Given the description of an element on the screen output the (x, y) to click on. 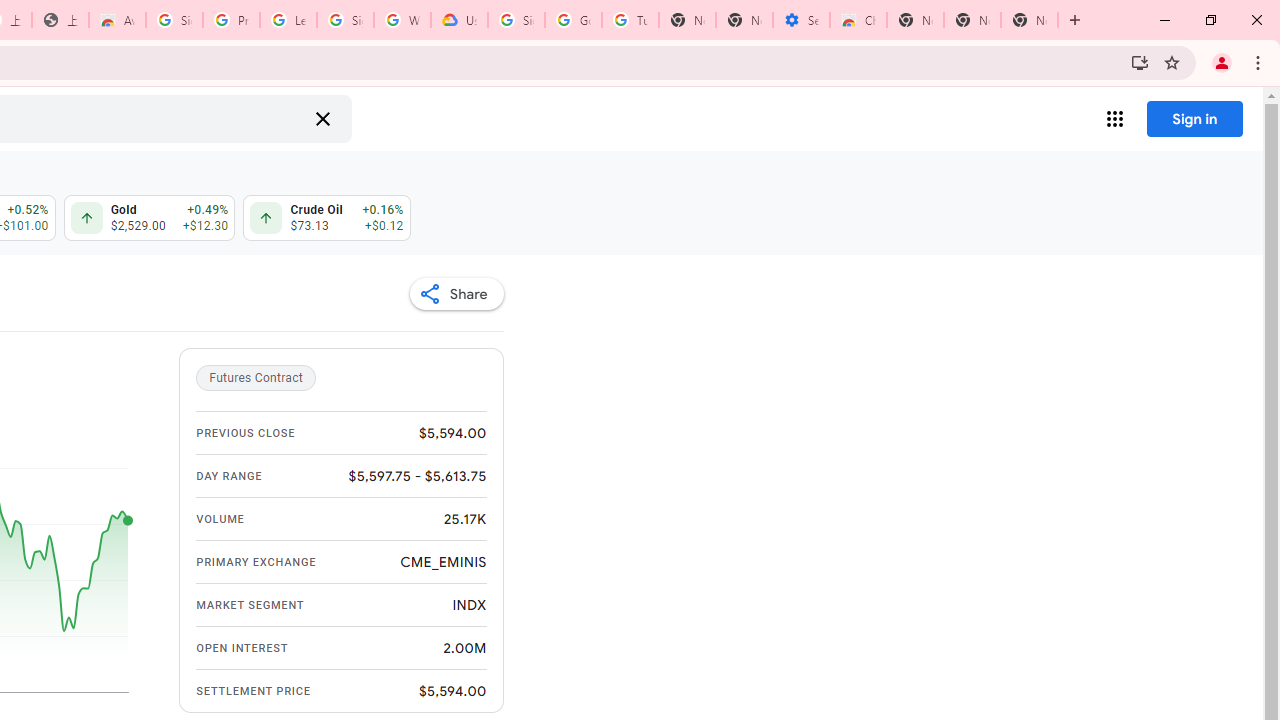
Who are Google's partners? - Privacy and conditions - Google (402, 20)
Install Google Finance (1139, 62)
New Tab (915, 20)
Sign in - Google Accounts (174, 20)
Sign in - Google Accounts (516, 20)
Google Account Help (573, 20)
Awesome Screen Recorder & Screenshot - Chrome Web Store (116, 20)
Clear search (322, 118)
